Given the description of an element on the screen output the (x, y) to click on. 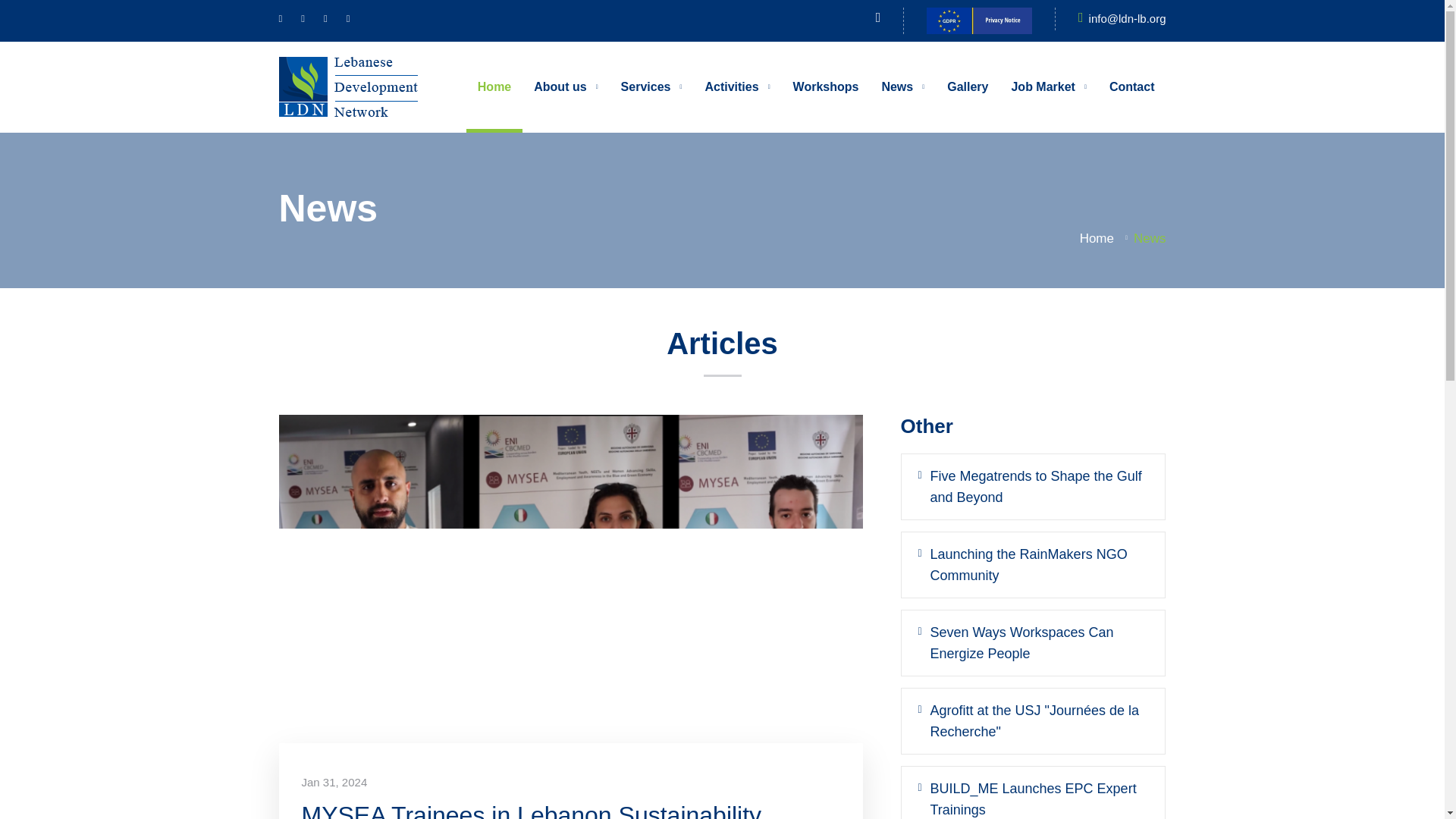
Home (494, 87)
About us (565, 87)
Services (651, 87)
